Given the description of an element on the screen output the (x, y) to click on. 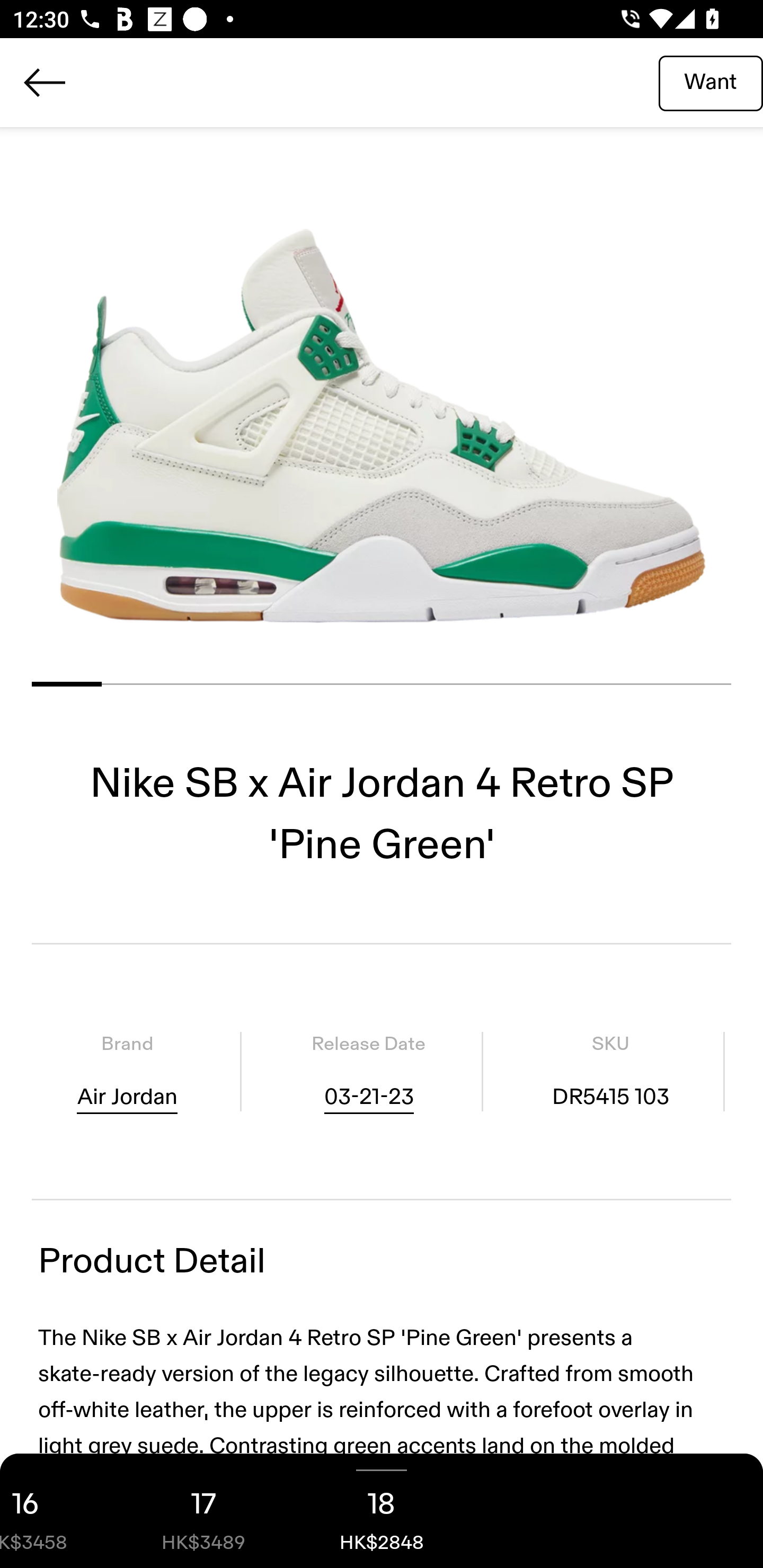
Want (710, 82)
Brand Air Jordan (126, 1070)
Release Date 03-21-23 (368, 1070)
SKU DR5415 103 (609, 1070)
16 HK$3458 (57, 1510)
17 HK$3489 (203, 1510)
18 HK$2848 (381, 1510)
